Given the description of an element on the screen output the (x, y) to click on. 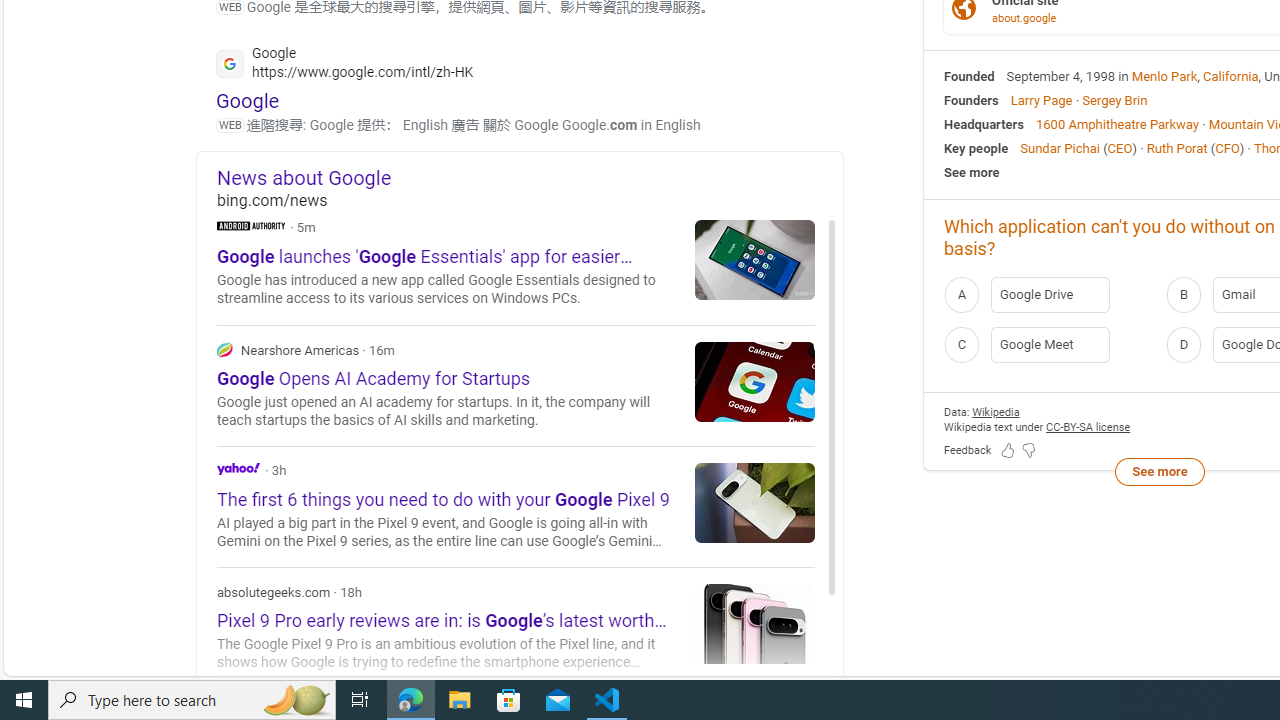
CC-BY-SA license (1088, 426)
Google (248, 100)
Nearshore Americas (516, 384)
Key people (976, 147)
The first 6 things you need to do with your Google Pixel 9 (755, 502)
Global web icon (229, 63)
CEO (1119, 147)
Menlo Park (1164, 75)
Yahoo (238, 468)
